Given the description of an element on the screen output the (x, y) to click on. 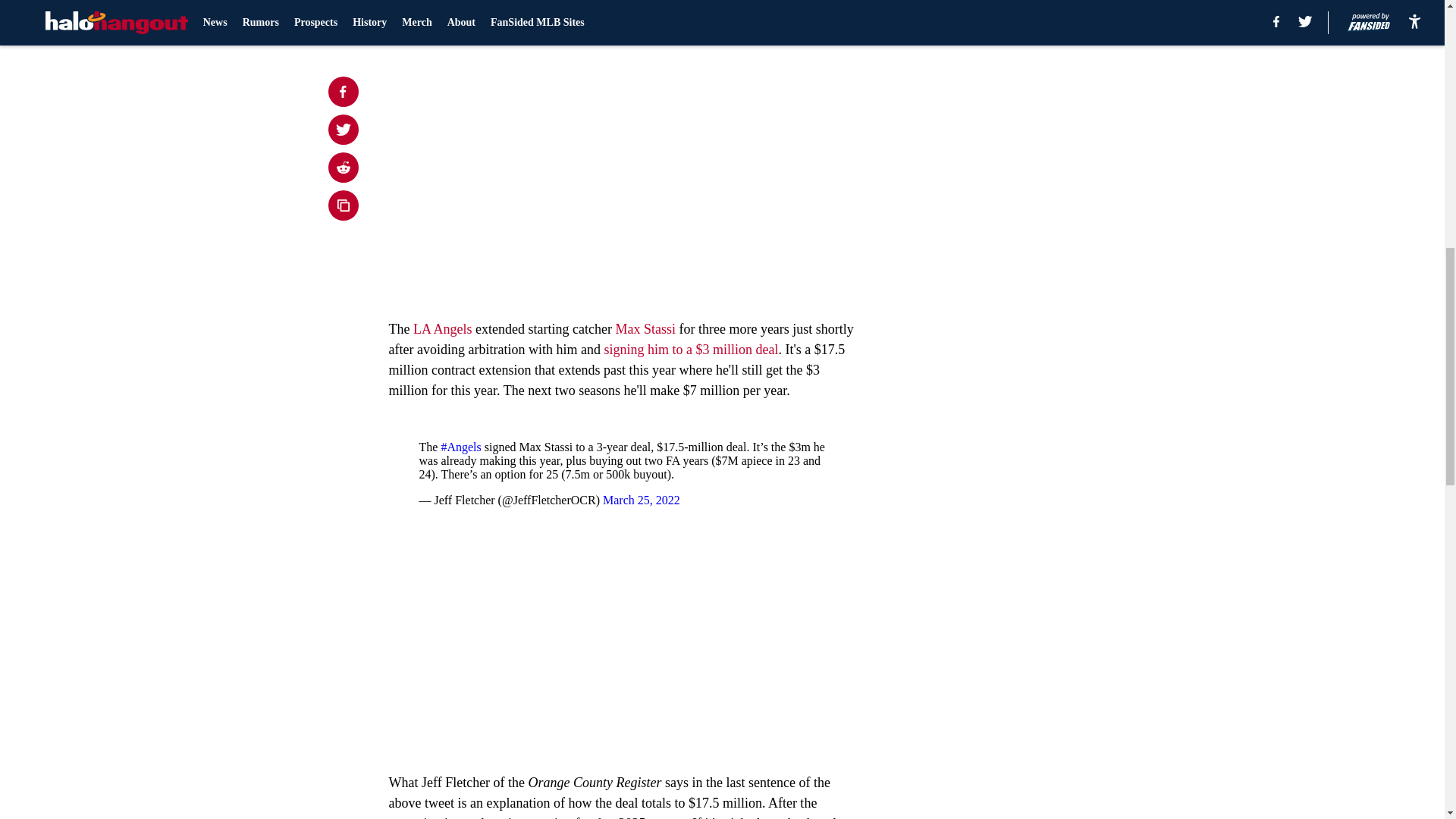
LA Angels (442, 328)
Max Stassi (644, 328)
March 25, 2022 (640, 499)
